Given the description of an element on the screen output the (x, y) to click on. 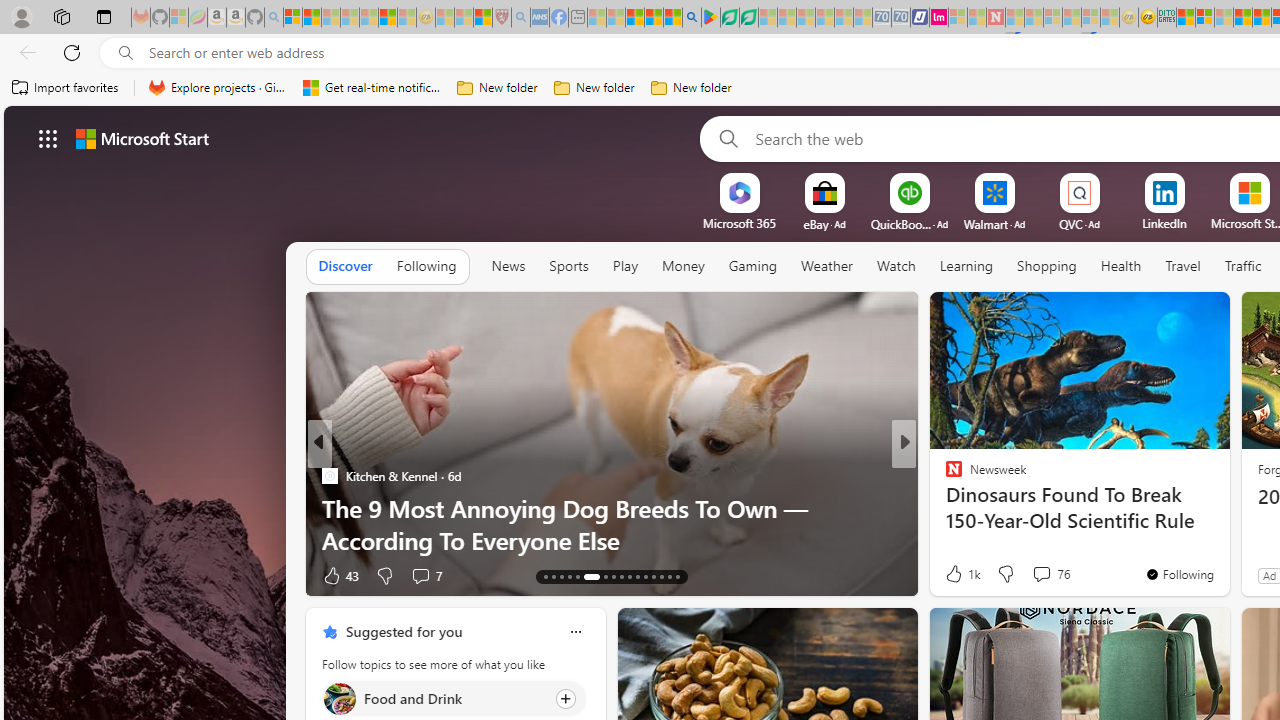
Class: icon-img (575, 632)
AutomationID: tab-23 (637, 576)
AutomationID: tab-20 (613, 576)
Click to follow topic Food and Drink (453, 698)
Jobs - lastminute.com Investor Portal (939, 17)
View comments 76 Comment (1041, 573)
11 Like (956, 574)
View comments 37 Comment (427, 574)
